Given the description of an element on the screen output the (x, y) to click on. 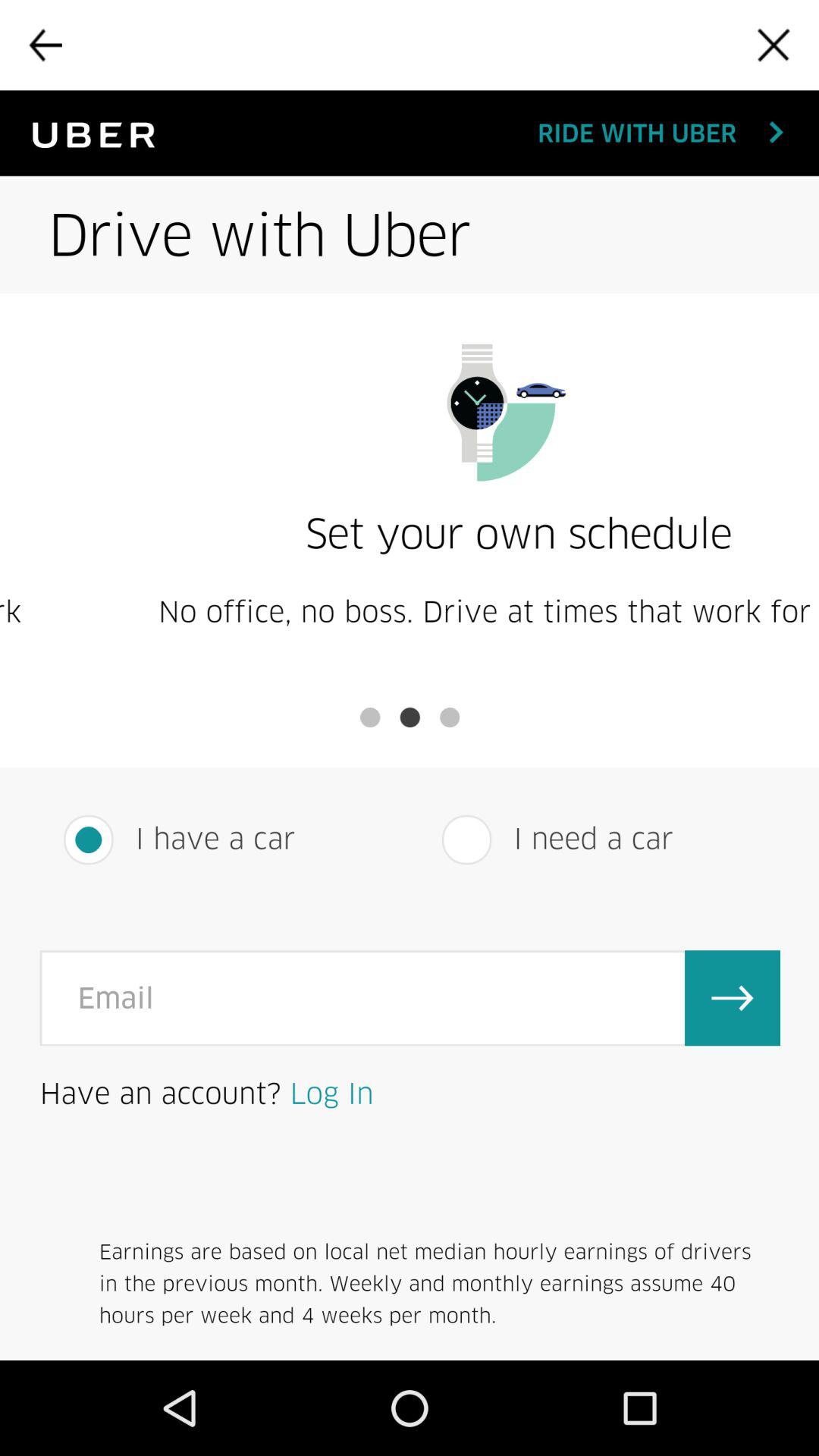
cancel option (773, 45)
